Given the description of an element on the screen output the (x, y) to click on. 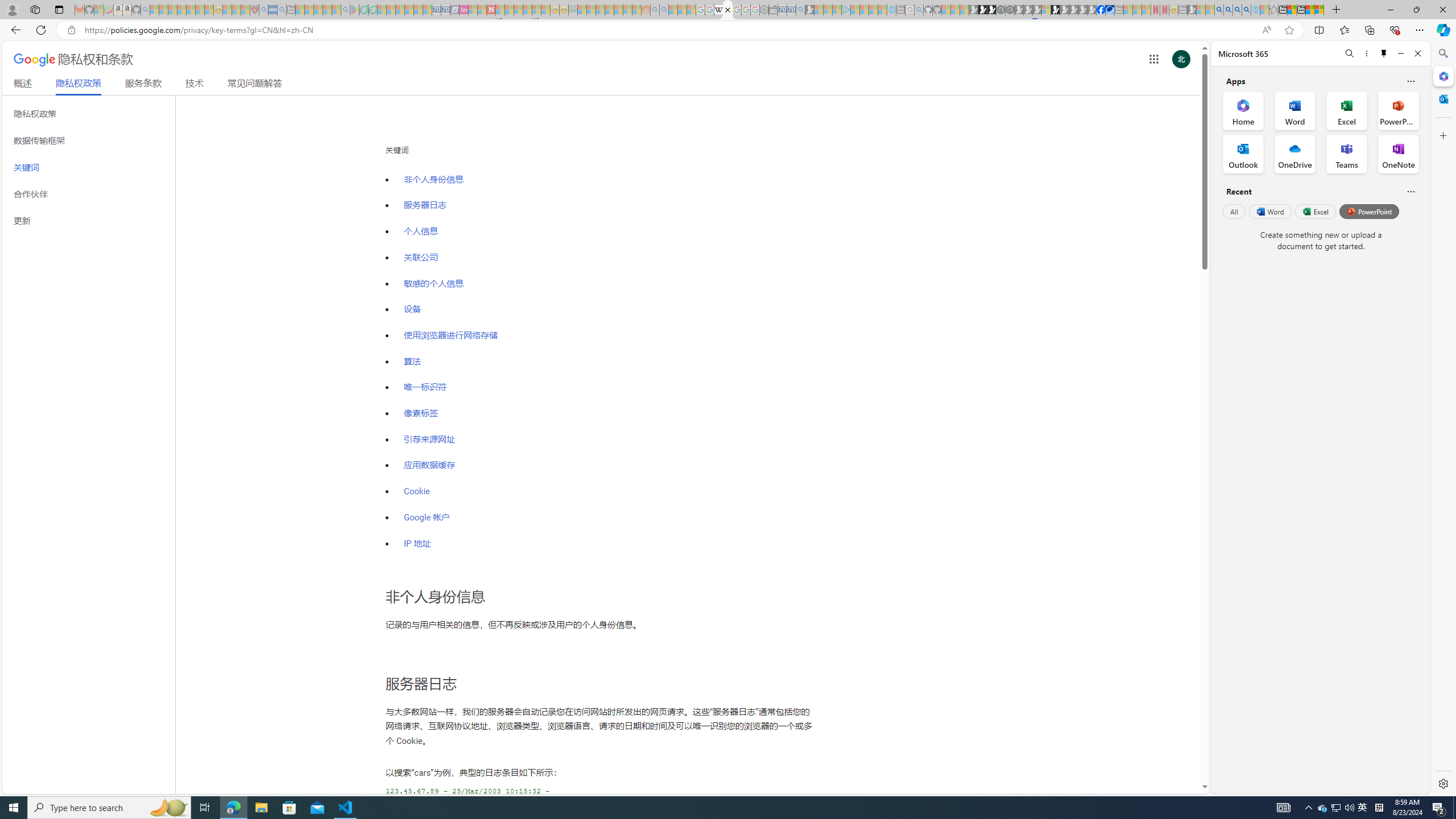
Sign in to your account - Sleeping (1045, 9)
Nordace | Facebook (1100, 9)
